Given the description of an element on the screen output the (x, y) to click on. 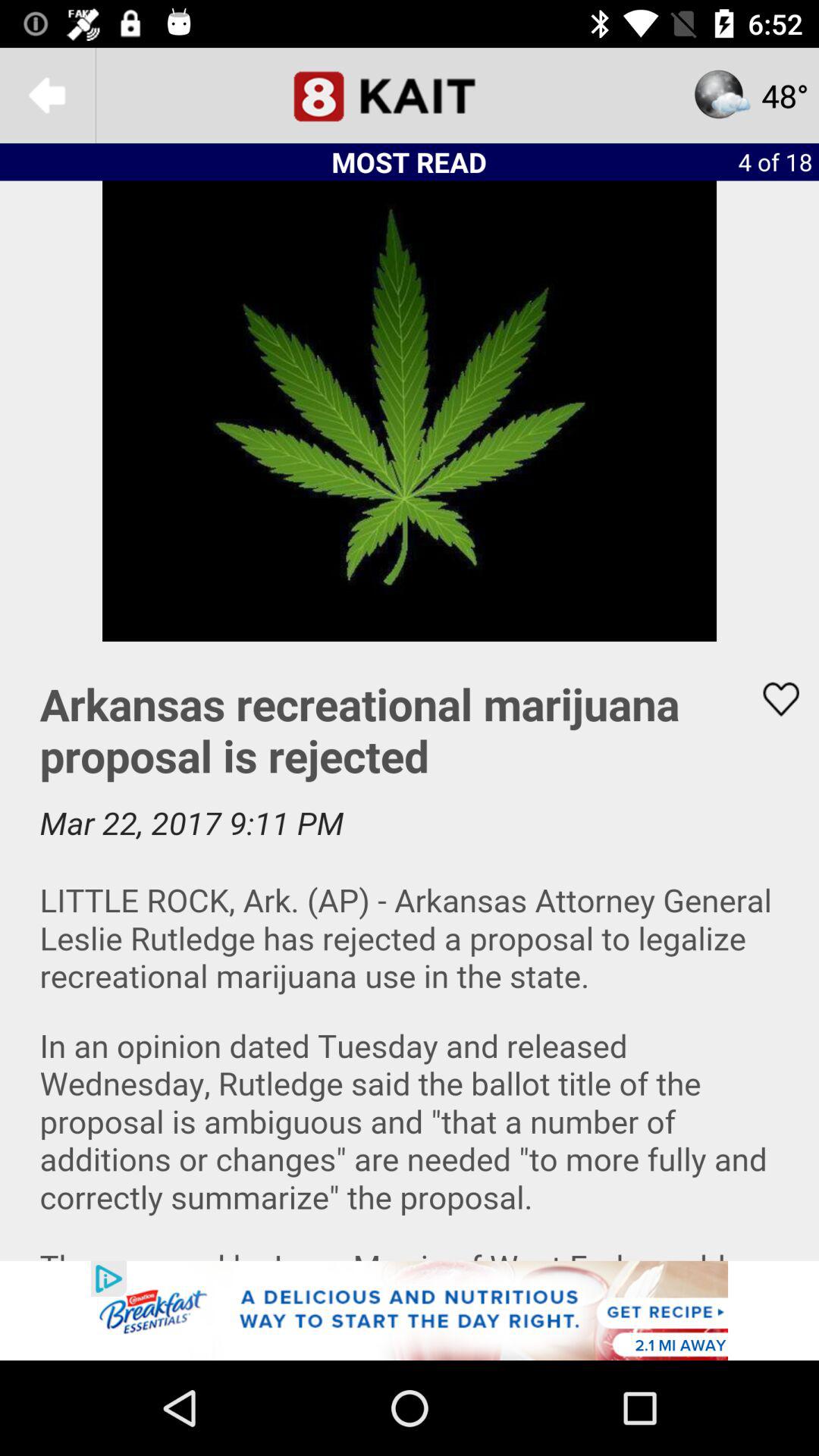
advertisement area (409, 1310)
